Given the description of an element on the screen output the (x, y) to click on. 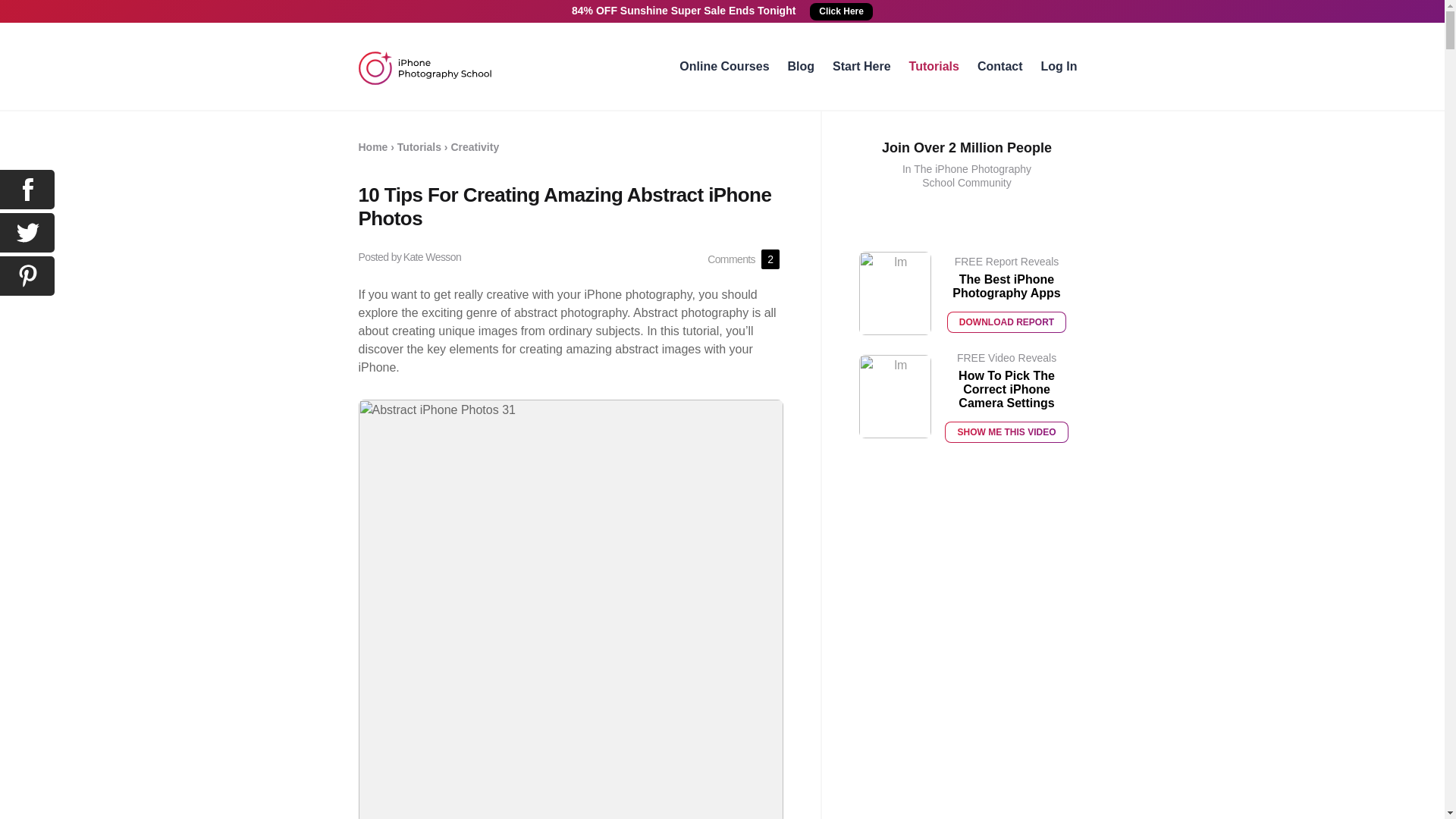
Home (372, 146)
Blog (801, 65)
Start Here (861, 65)
Click Here (840, 11)
Contact (1000, 65)
Tutorials (933, 65)
Creativity (474, 146)
Tutorials (419, 146)
SHOW ME THIS VIDEO (1005, 432)
Kate Wesson (432, 256)
Online Courses (723, 65)
DOWNLOAD REPORT (1006, 322)
Log In (1059, 65)
